Given the description of an element on the screen output the (x, y) to click on. 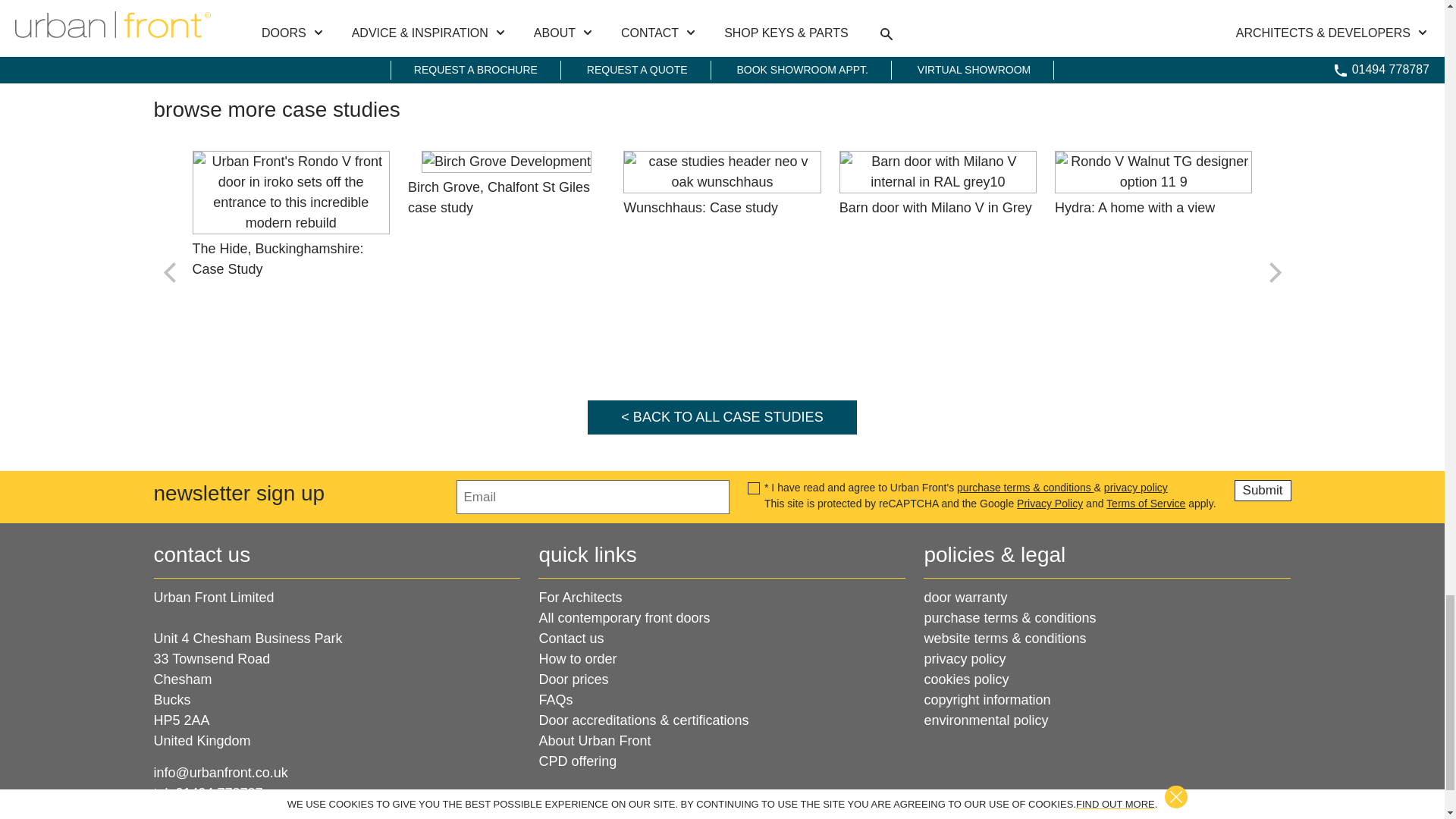
Submit (1262, 490)
